Given the description of an element on the screen output the (x, y) to click on. 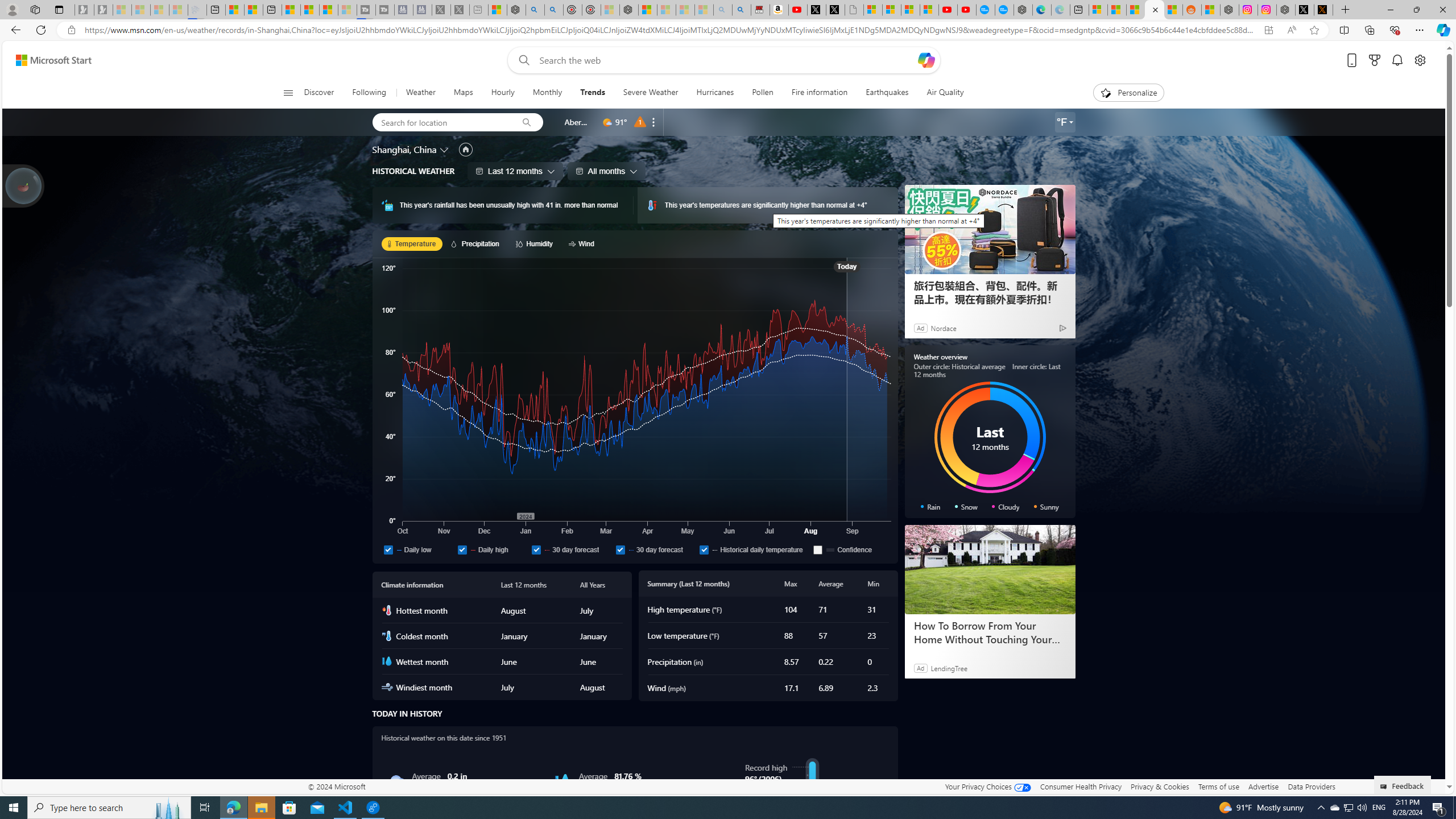
Privacy & Cookies (1160, 786)
Humidity (536, 243)
Hourly (502, 92)
Address and search bar (669, 29)
Temperature (411, 243)
Trends (592, 92)
X (835, 9)
App bar (728, 29)
Amazon Echo Dot PNG - Search Images (741, 9)
Pollen (762, 92)
Discover the Most Luxurious Homes in Dubai (988, 632)
Severe Weather (650, 92)
Streaming Coverage | T3 - Sleeping (366, 9)
Class: button-glyph (287, 92)
The most popular Google 'how to' searches (1004, 9)
